Given the description of an element on the screen output the (x, y) to click on. 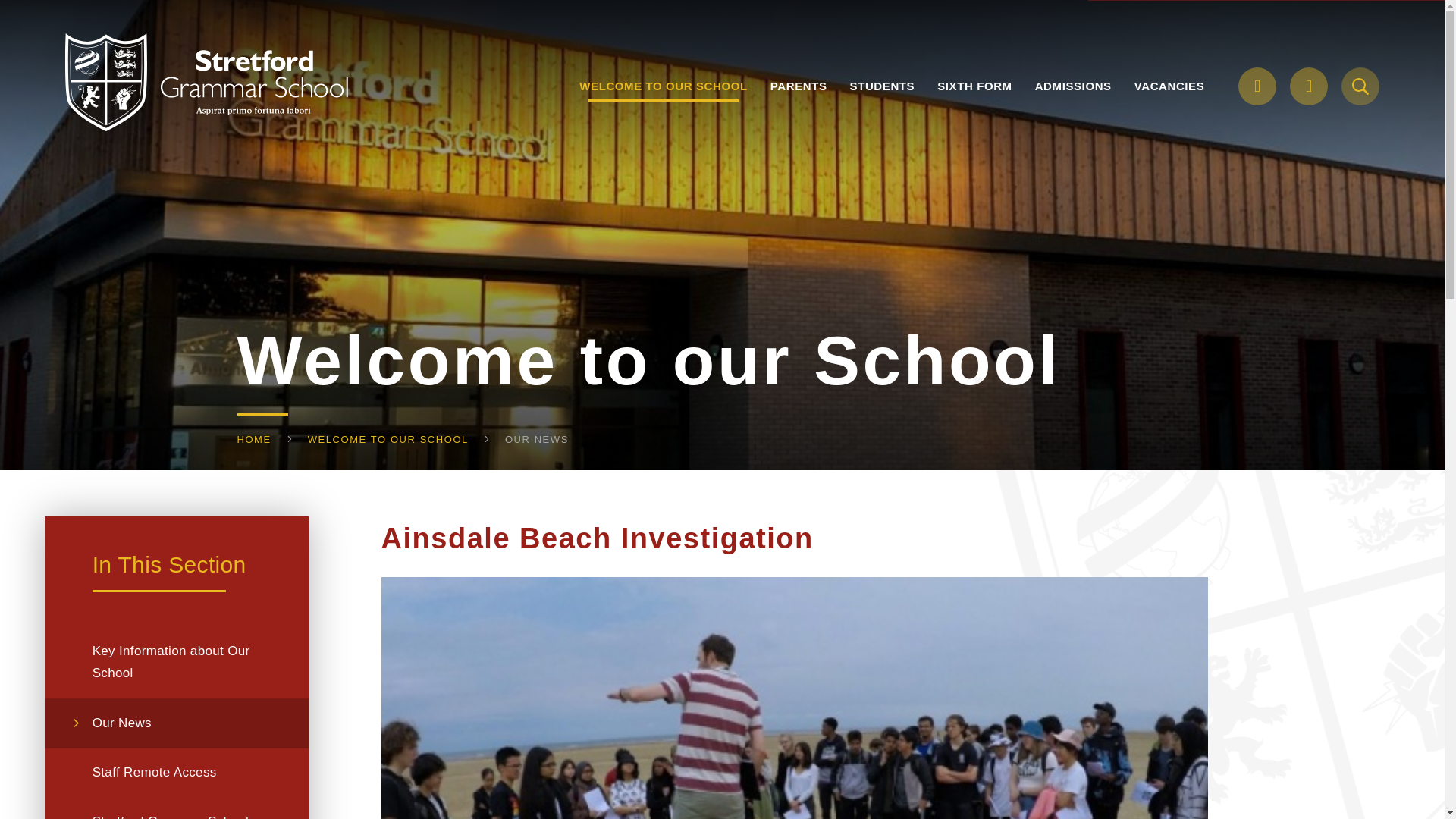
WELCOME TO OUR SCHOOL (663, 86)
PARENTS (798, 86)
